Given the description of an element on the screen output the (x, y) to click on. 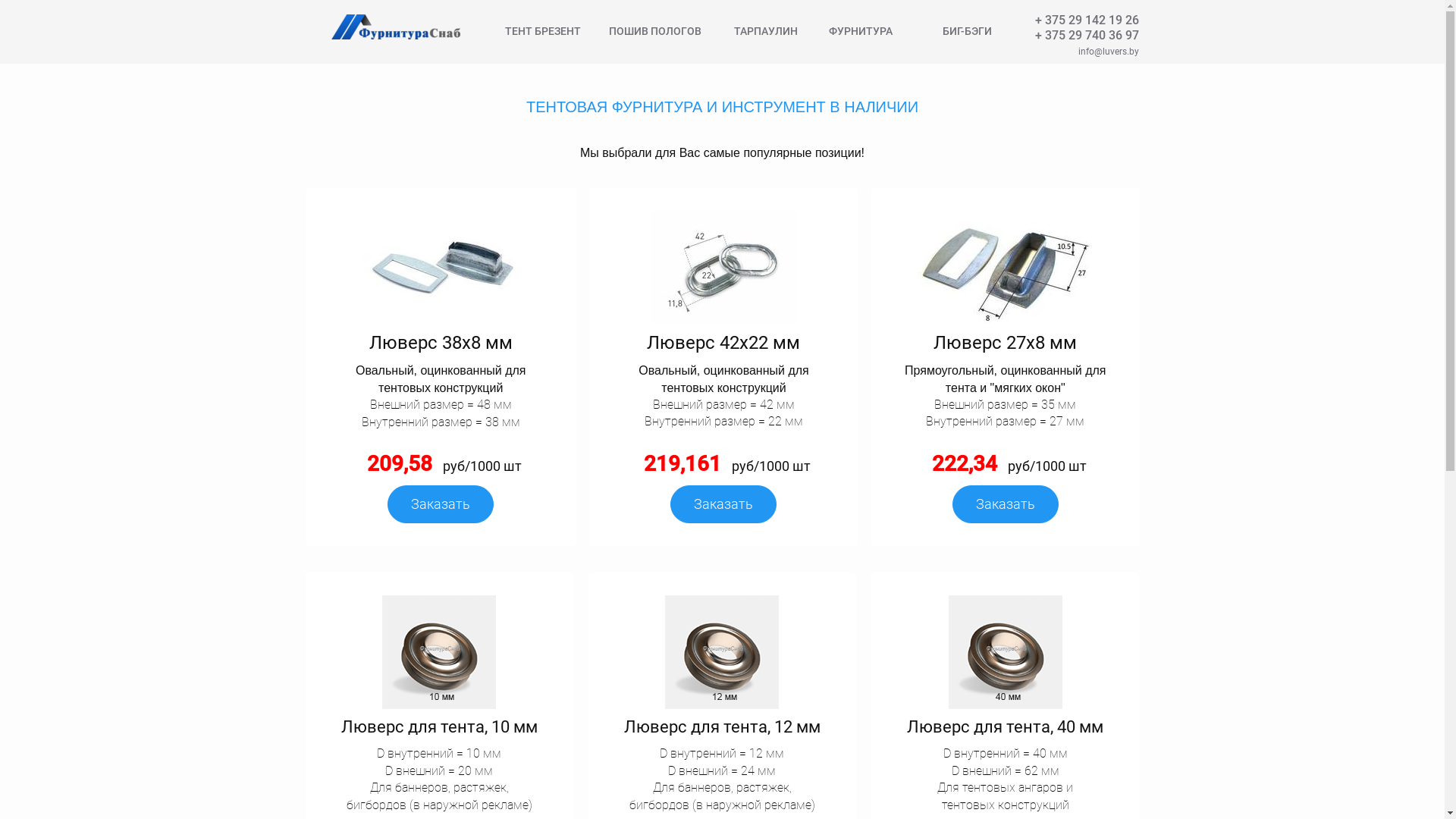
+ 375 29 142 19 26 Element type: text (1087, 20)
+ 375 29 740 36 97 Element type: text (1087, 35)
